Given the description of an element on the screen output the (x, y) to click on. 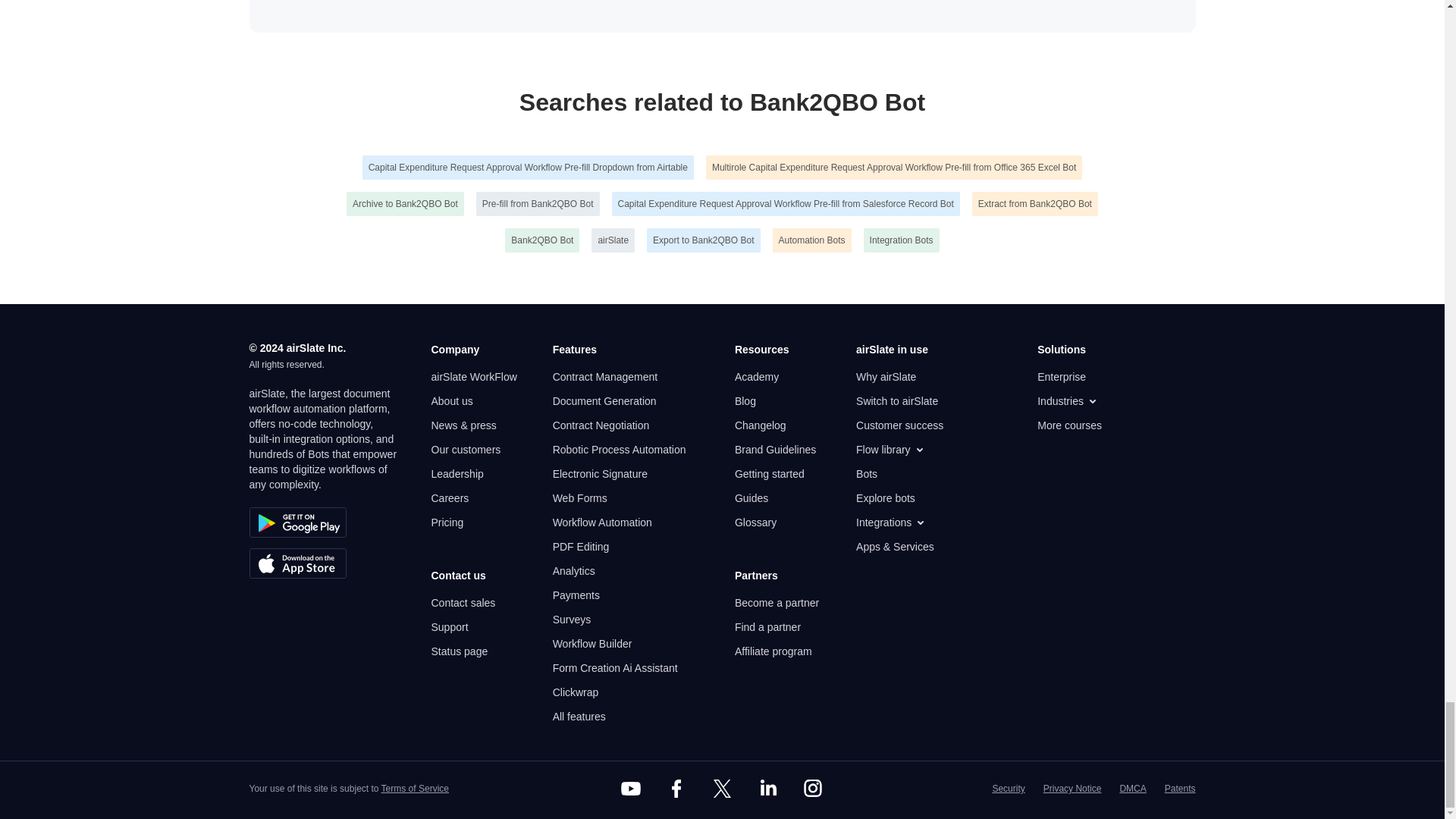
YouTube (630, 788)
Instagram (812, 788)
Twitter (721, 788)
Facebook (676, 788)
LinkedIn (767, 788)
